Given the description of an element on the screen output the (x, y) to click on. 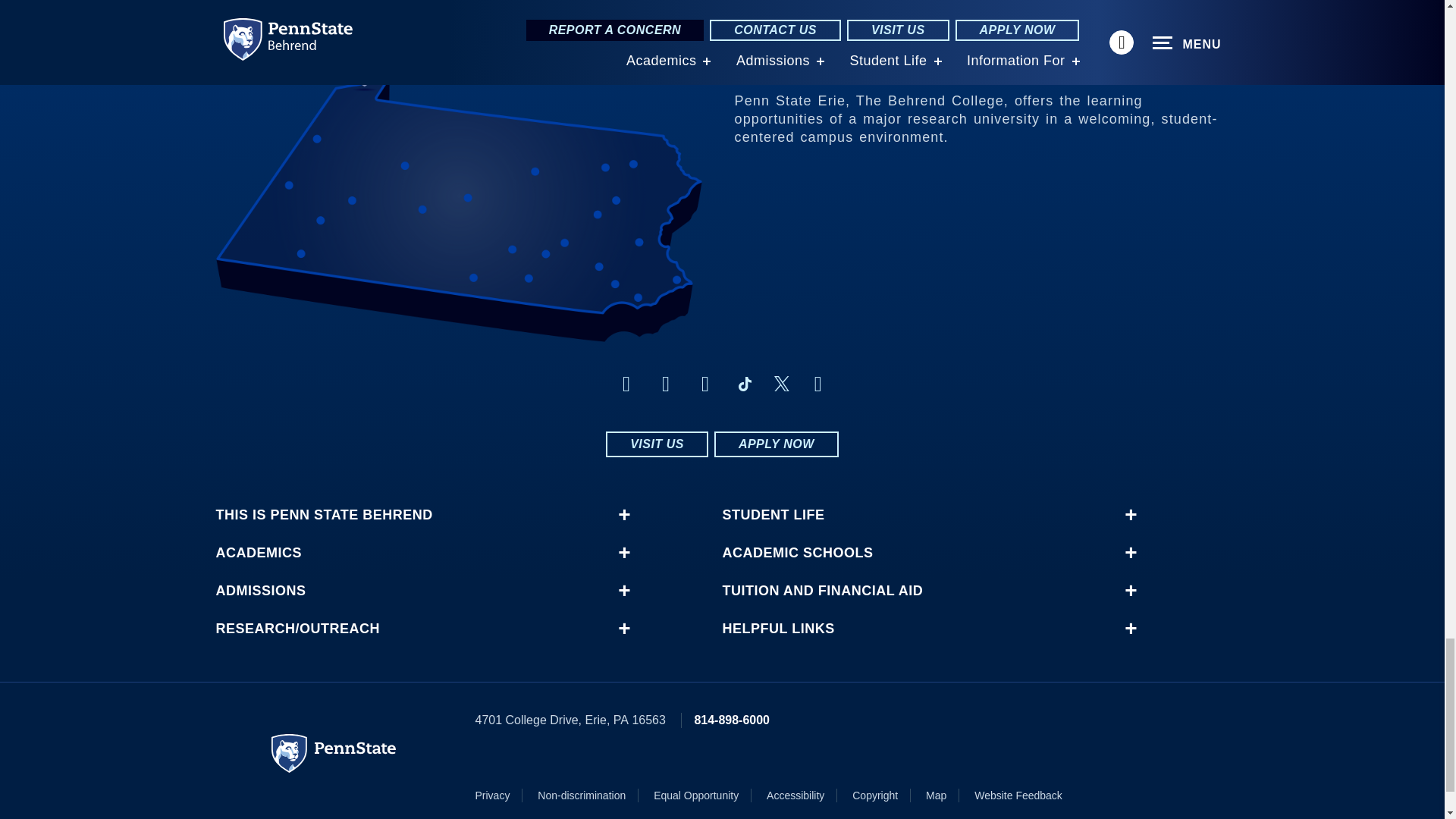
LinkedIn (705, 383)
Instagram (666, 383)
TikTok (744, 383)
YouTube (818, 383)
Facebook (626, 383)
